Given the description of an element on the screen output the (x, y) to click on. 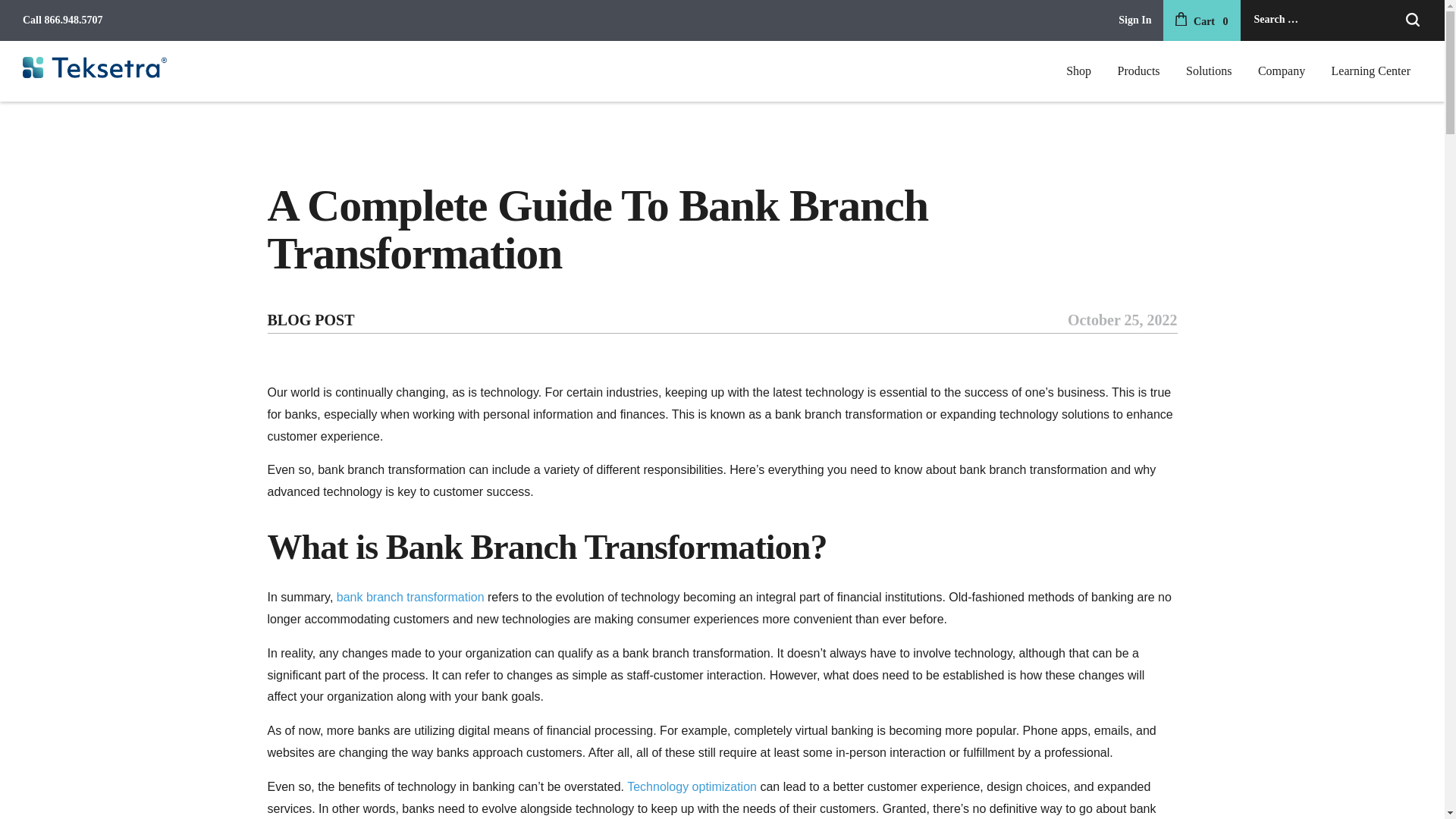
Search (1411, 19)
Shop (1078, 70)
Sign In (1134, 21)
Call 866.948.5707 (62, 19)
Search (1411, 19)
Cart   0 (1201, 21)
Products (1139, 70)
Search (1411, 19)
